Given the description of an element on the screen output the (x, y) to click on. 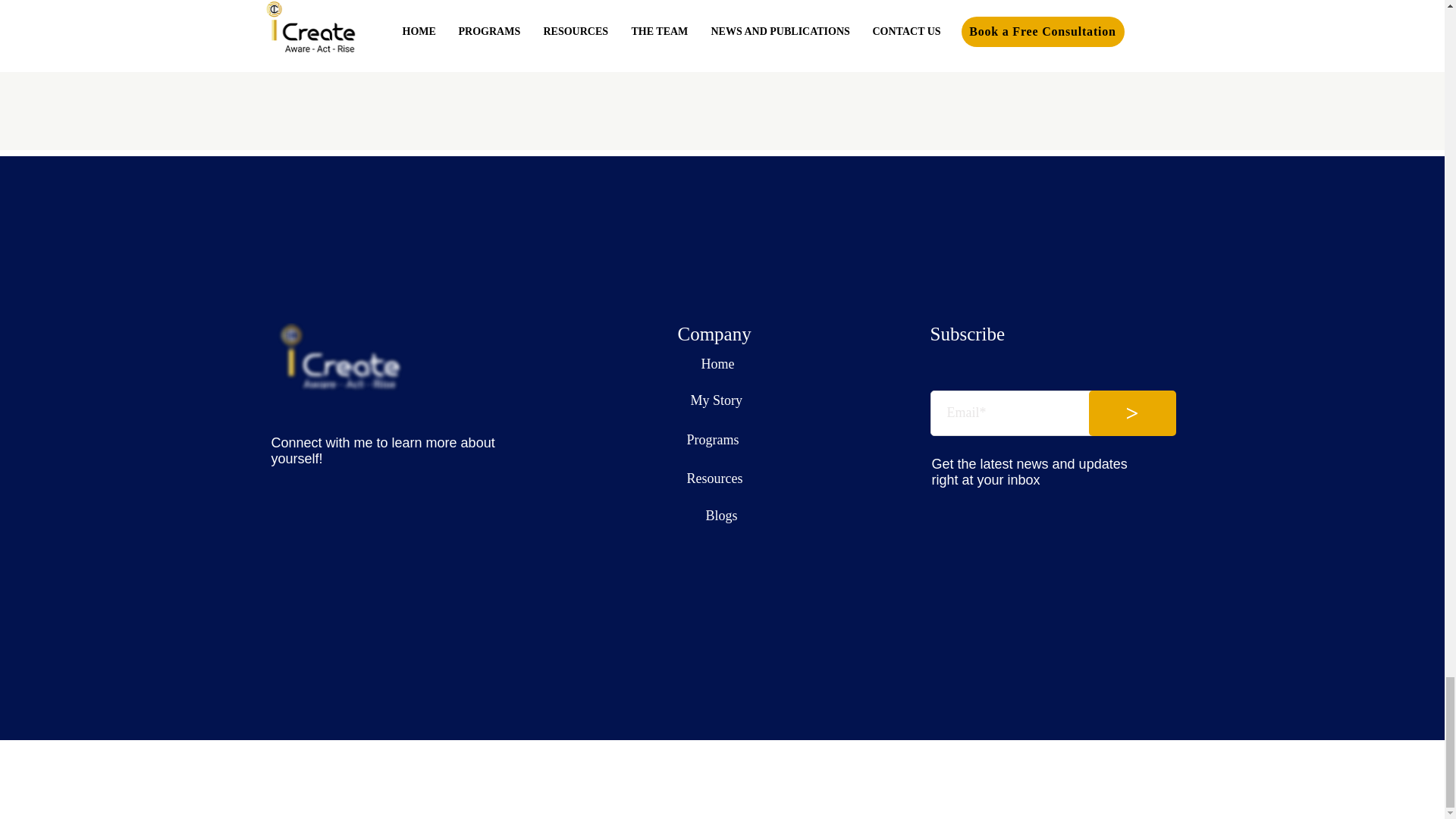
Home (716, 363)
Blogs (720, 515)
My Story (716, 400)
